Given the description of an element on the screen output the (x, y) to click on. 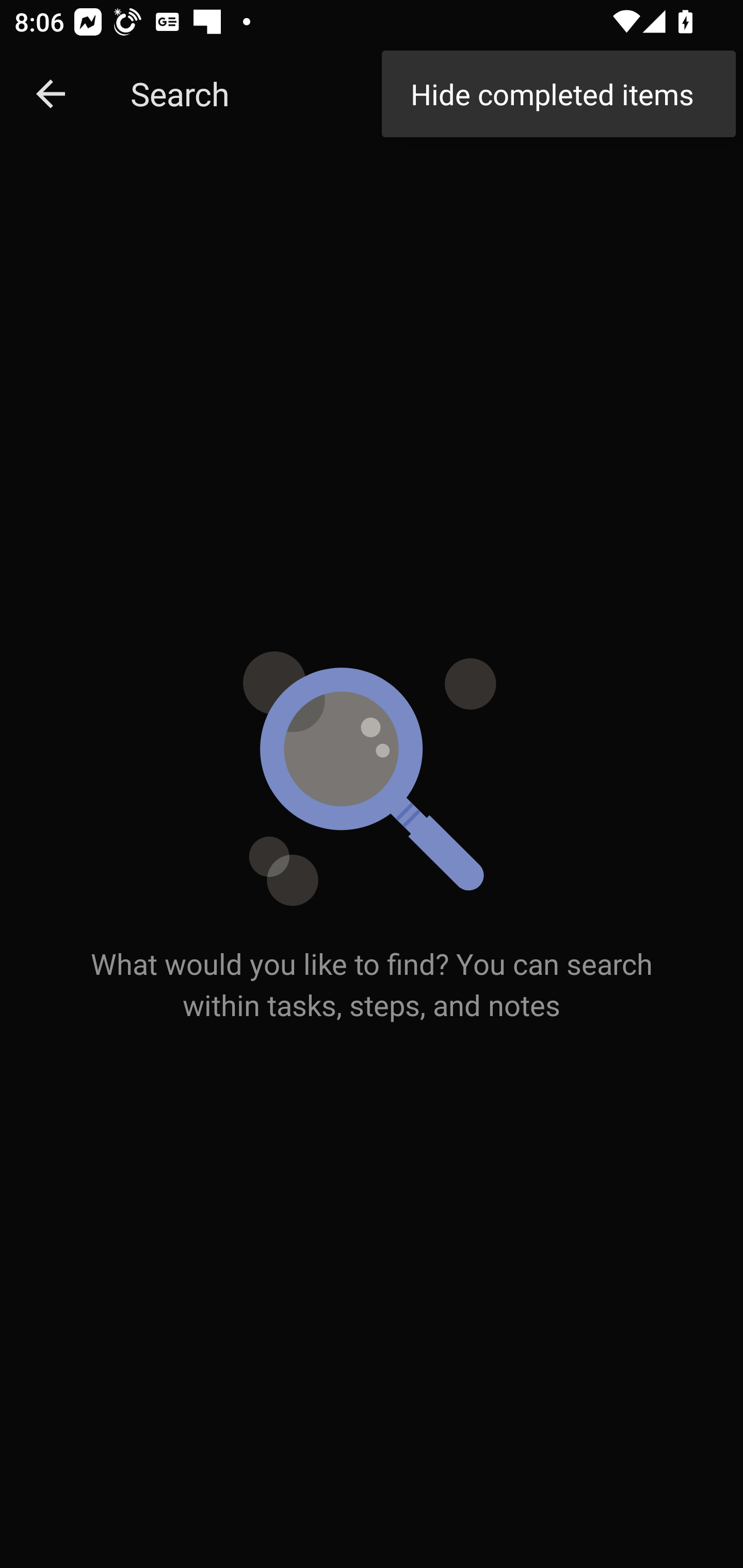
Hide completed items (558, 93)
